Given the description of an element on the screen output the (x, y) to click on. 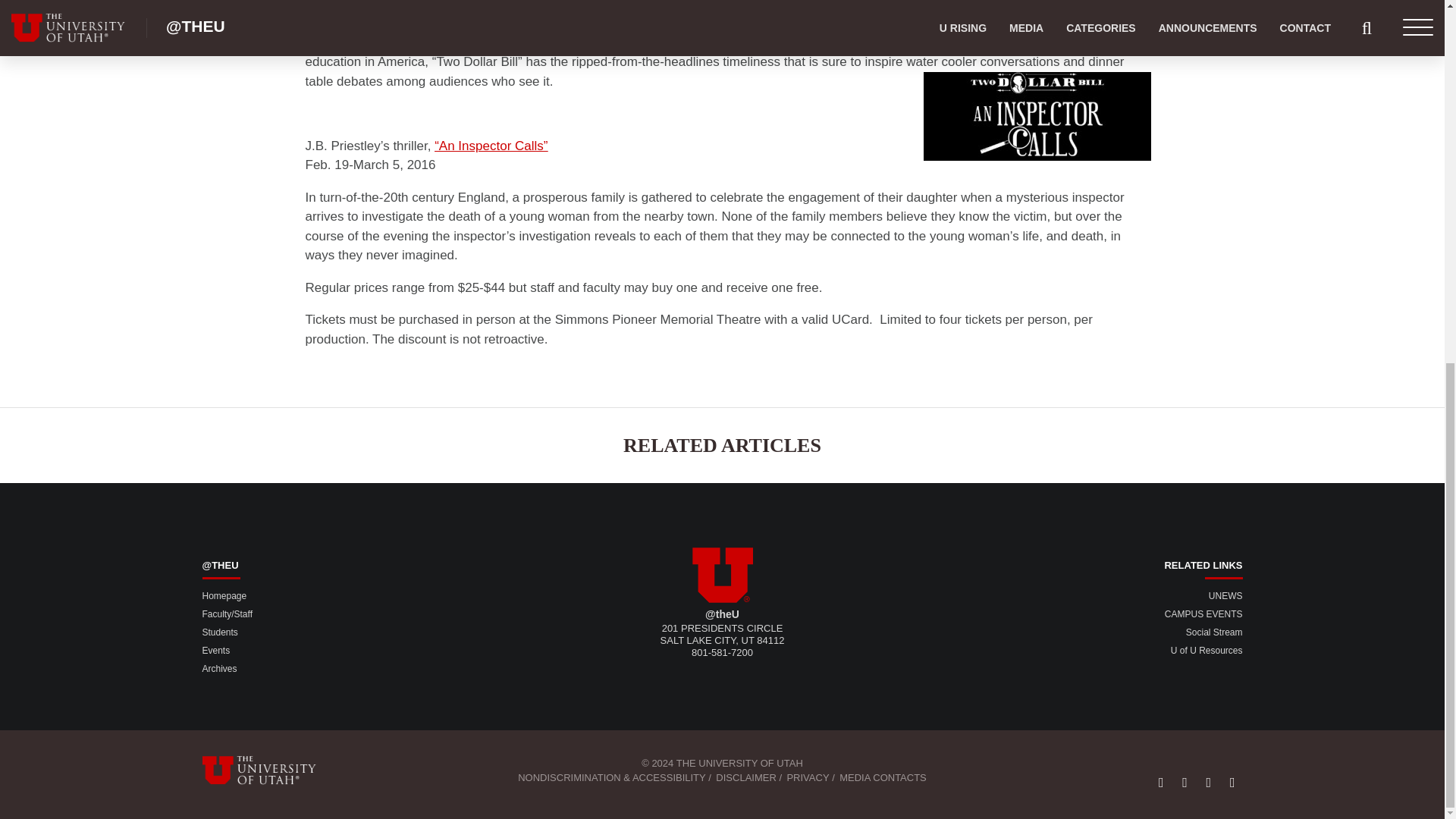
University of Utah (721, 567)
University of Utah (269, 769)
